Given the description of an element on the screen output the (x, y) to click on. 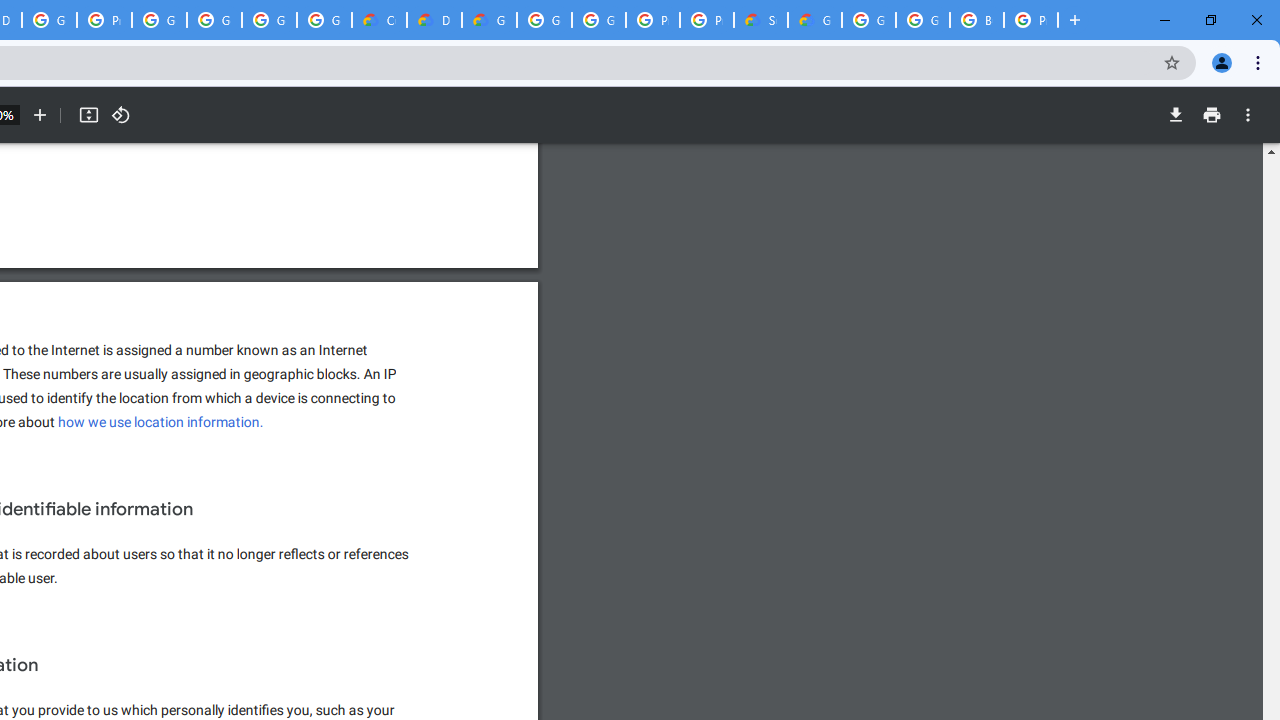
Google Workspace - Specific Terms (324, 20)
Print (1211, 115)
Download (1175, 115)
Support Hub | Google Cloud (760, 20)
Zoom in (39, 115)
